Given the description of an element on the screen output the (x, y) to click on. 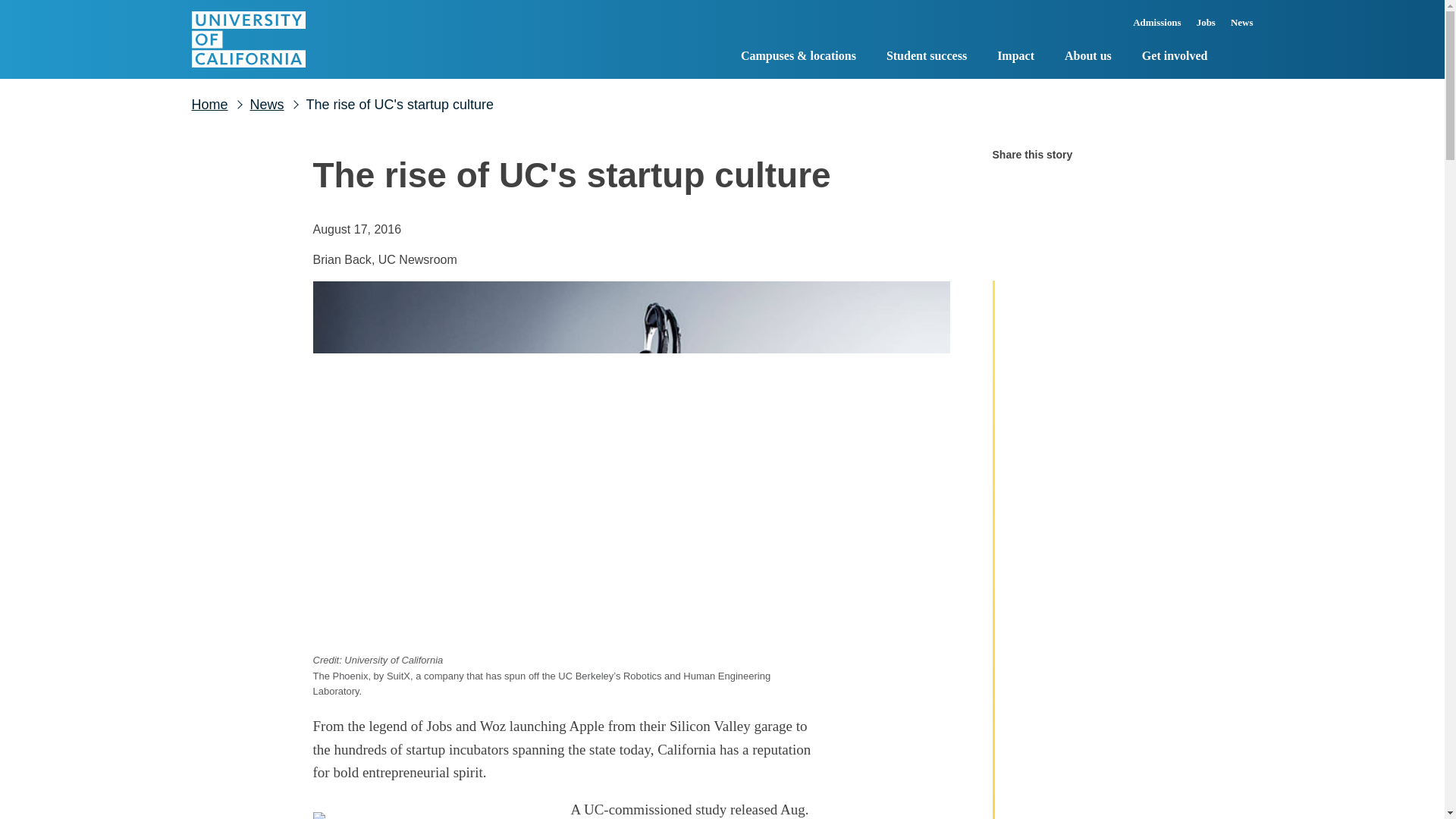
Search (1241, 56)
Student success (926, 58)
Get involved (1174, 58)
Admissions (1157, 26)
About us (1088, 58)
Jobs (1206, 26)
Home (247, 39)
Admissions (1157, 26)
Impact (1015, 58)
